Given the description of an element on the screen output the (x, y) to click on. 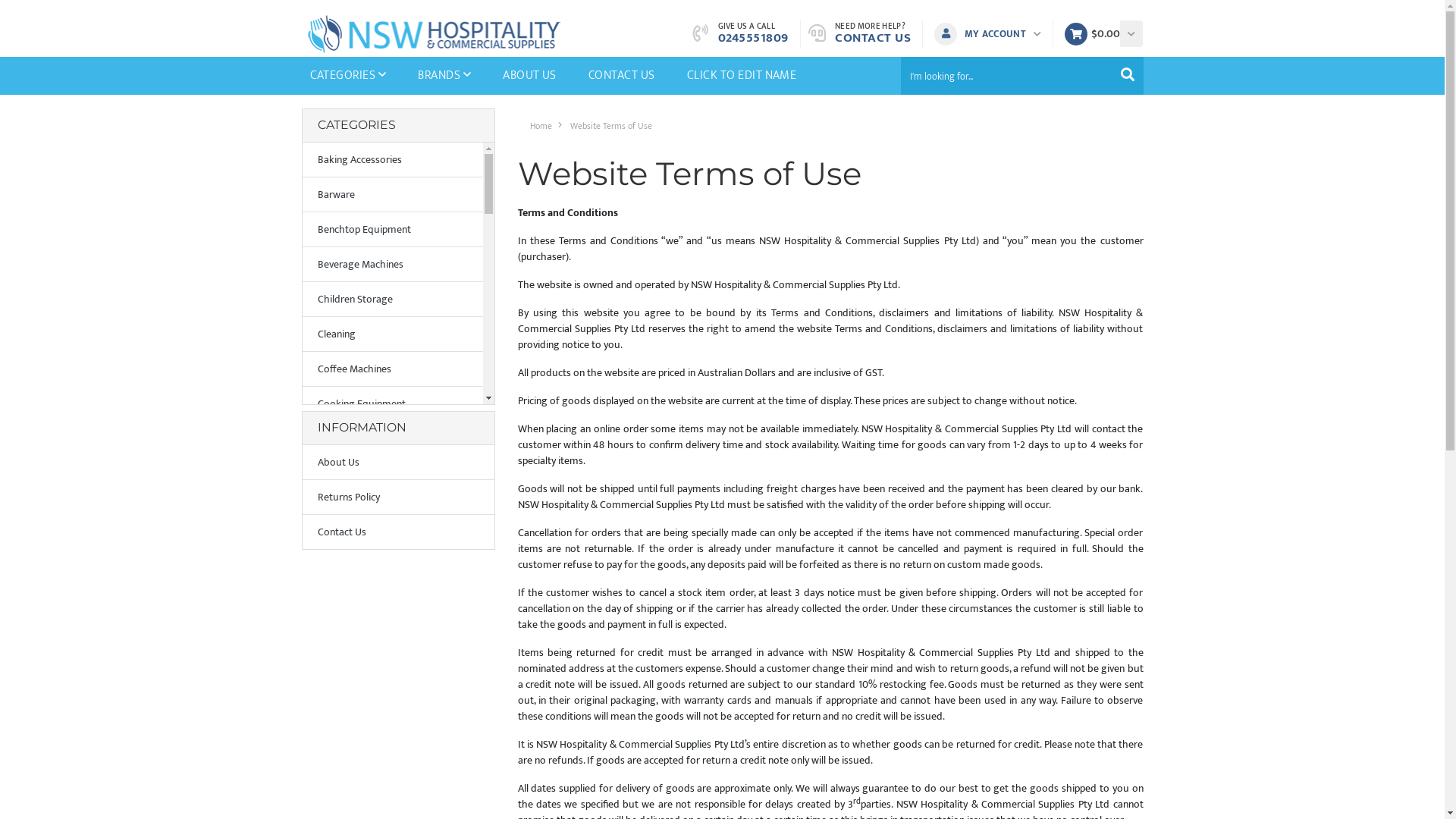
Contact Us Element type: text (397, 531)
CONTACT US Element type: text (872, 37)
CONTACT US Element type: text (621, 75)
Cleaning Element type: text (391, 333)
ABOUT US Element type: text (529, 75)
Kitchen Equipment Element type: text (391, 717)
Returns Policy Element type: text (397, 497)
Crockery Element type: text (391, 473)
Kitchenware Element type: text (391, 787)
0245551809 Element type: text (752, 37)
Cutlery Element type: text (391, 508)
Benchtop Equipment Element type: text (391, 229)
CATEGORIES Element type: text (348, 75)
Beverage Machines Element type: text (391, 264)
BRANDS Element type: text (444, 75)
NSW Hospitality & Commercial Supplies Pty Ltd Element type: hover (434, 32)
Coffee Machines Element type: text (391, 368)
Website Terms of Use Element type: text (611, 125)
MY ACCOUNT Element type: text (991, 33)
CLICK TO EDIT NAME Element type: text (741, 75)
Drinkware Melamine Element type: text (391, 578)
Dishwashing Element type: text (391, 543)
About Us Element type: text (397, 462)
Ice Machines Element type: text (391, 682)
Baking Accessories Element type: text (391, 159)
Glassware Element type: text (391, 647)
Kitchen Knives Element type: text (391, 752)
$0.00 Element type: text (1092, 33)
Cooking Equipment Element type: text (391, 403)
Barware Element type: text (391, 194)
Home Element type: text (540, 125)
Food Misc Element type: text (391, 613)
Children Storage Element type: text (391, 299)
Cookware Element type: text (391, 438)
Search Element type: text (1127, 75)
